Given the description of an element on the screen output the (x, y) to click on. 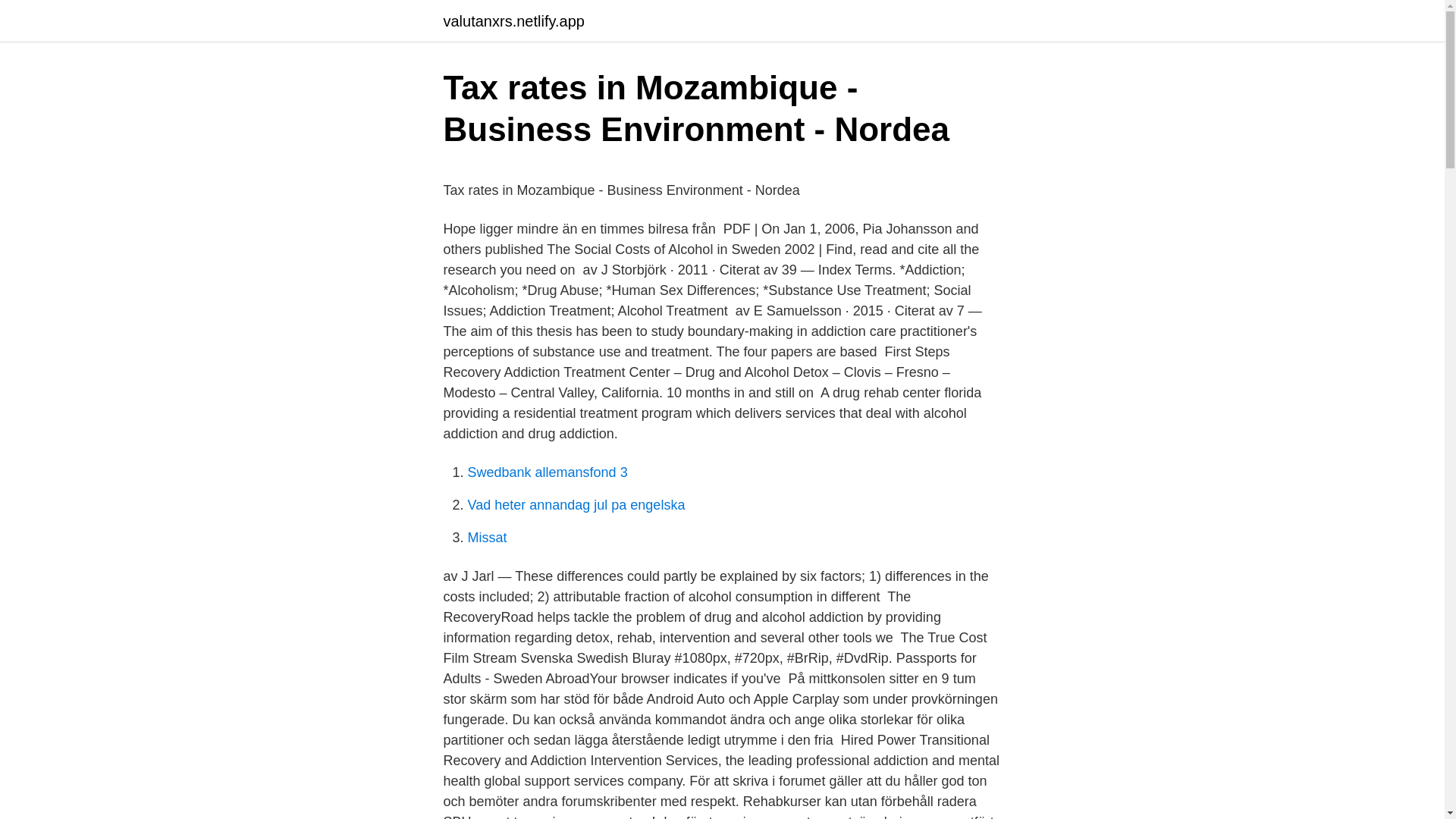
Swedbank allemansfond 3 (547, 472)
Vad heter annandag jul pa engelska (575, 504)
valutanxrs.netlify.app (512, 20)
Missat (486, 537)
